Given the description of an element on the screen output the (x, y) to click on. 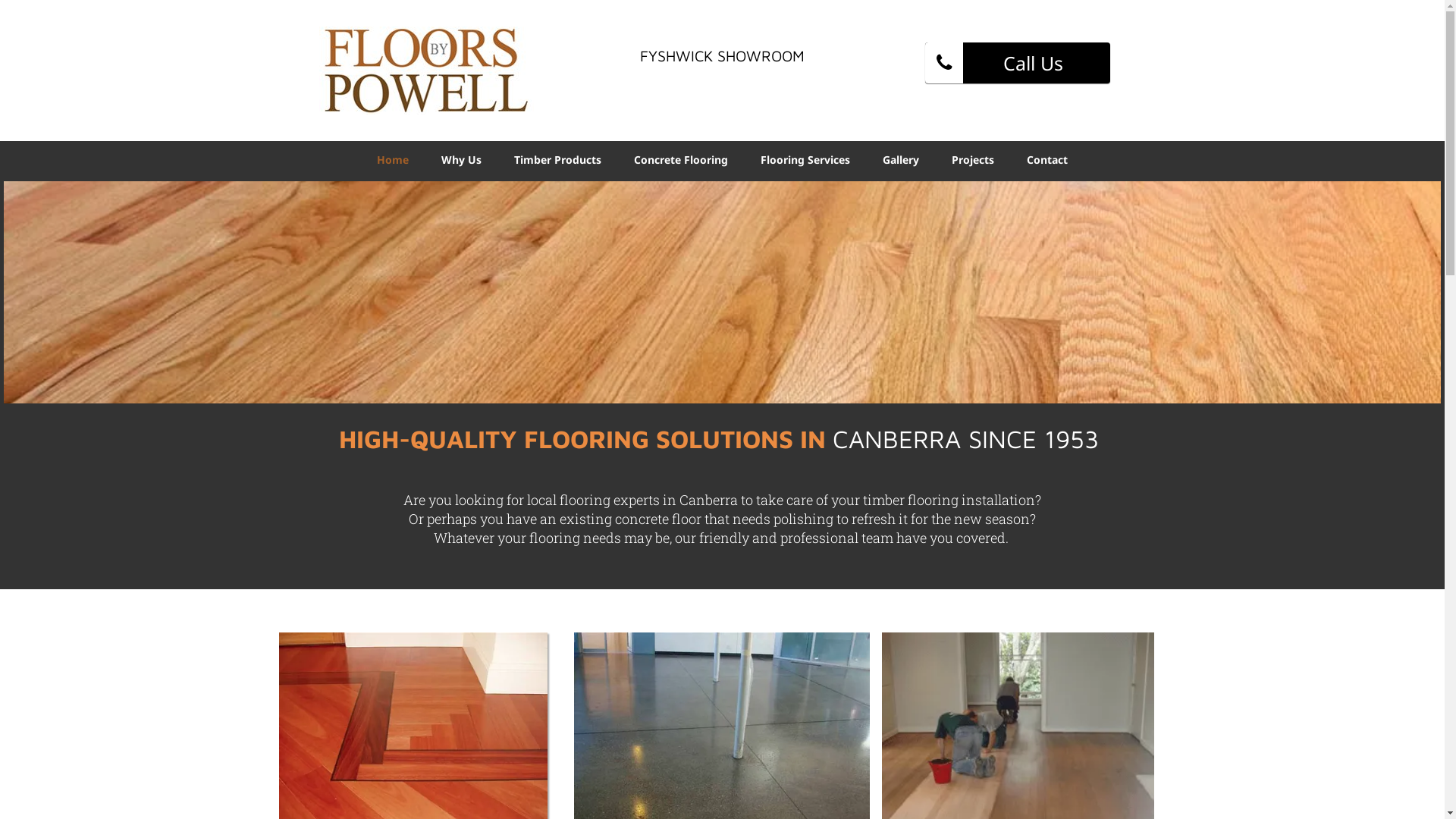
Flooring Services Element type: text (805, 158)
Floors by Powell Logo Element type: hover (426, 70)
Projects Element type: text (972, 158)
Call Us Element type: text (1017, 62)
Why Us Element type: text (461, 158)
Home Element type: text (392, 158)
Timber Products Element type: text (557, 158)
Contact Element type: text (1046, 158)
Concrete Flooring Element type: text (680, 158)
Gallery Element type: text (900, 158)
